Given the description of an element on the screen output the (x, y) to click on. 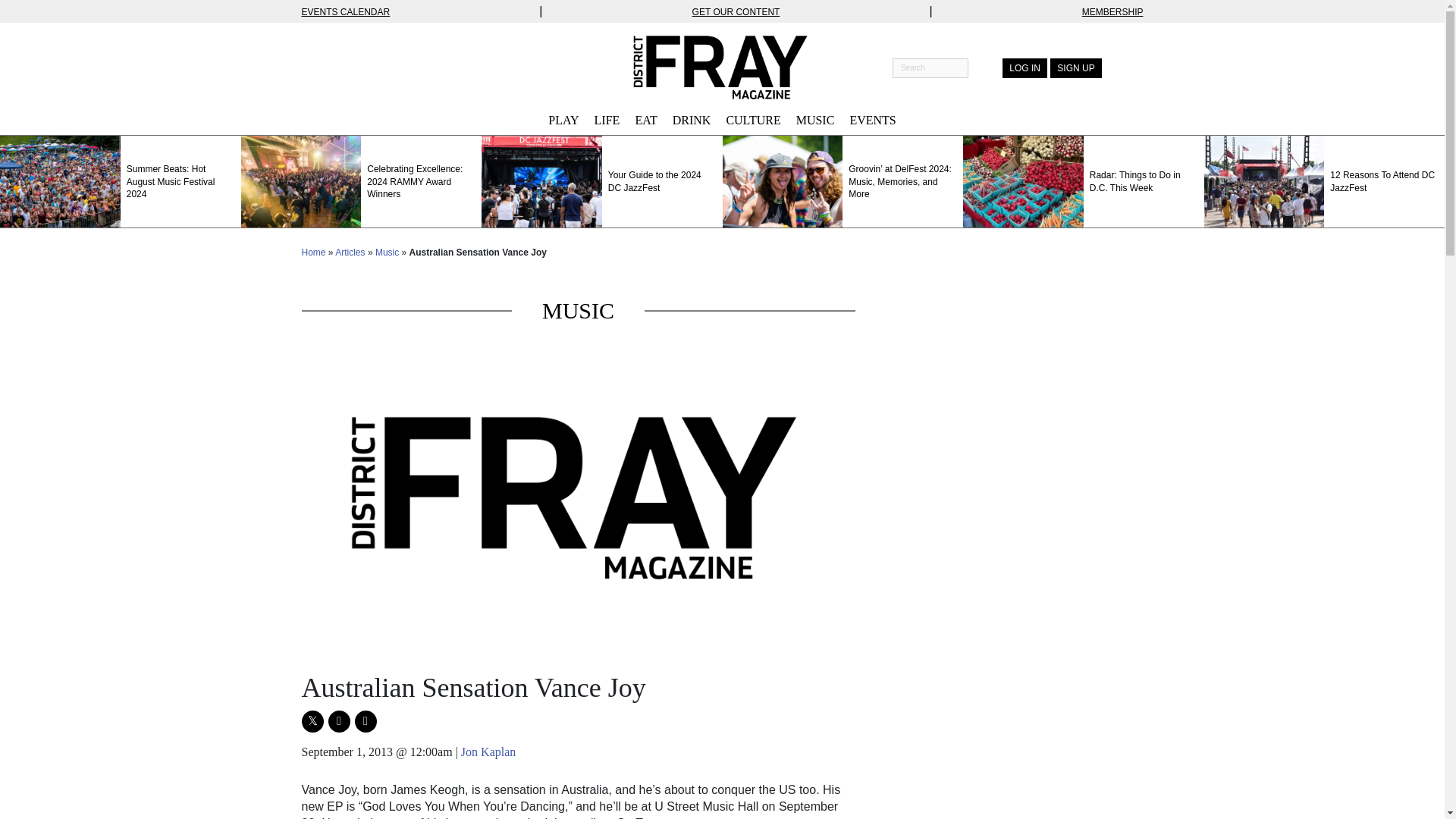
Facebook share (338, 721)
Twitter share (312, 721)
MEMBERSHIP (1111, 11)
Posts by Jon Kaplan (488, 751)
GET OUR CONTENT (736, 11)
LOG IN (1024, 67)
EVENTS CALENDAR (345, 11)
Login (1024, 67)
SIGN UP (1074, 67)
Register (1074, 67)
